Given the description of an element on the screen output the (x, y) to click on. 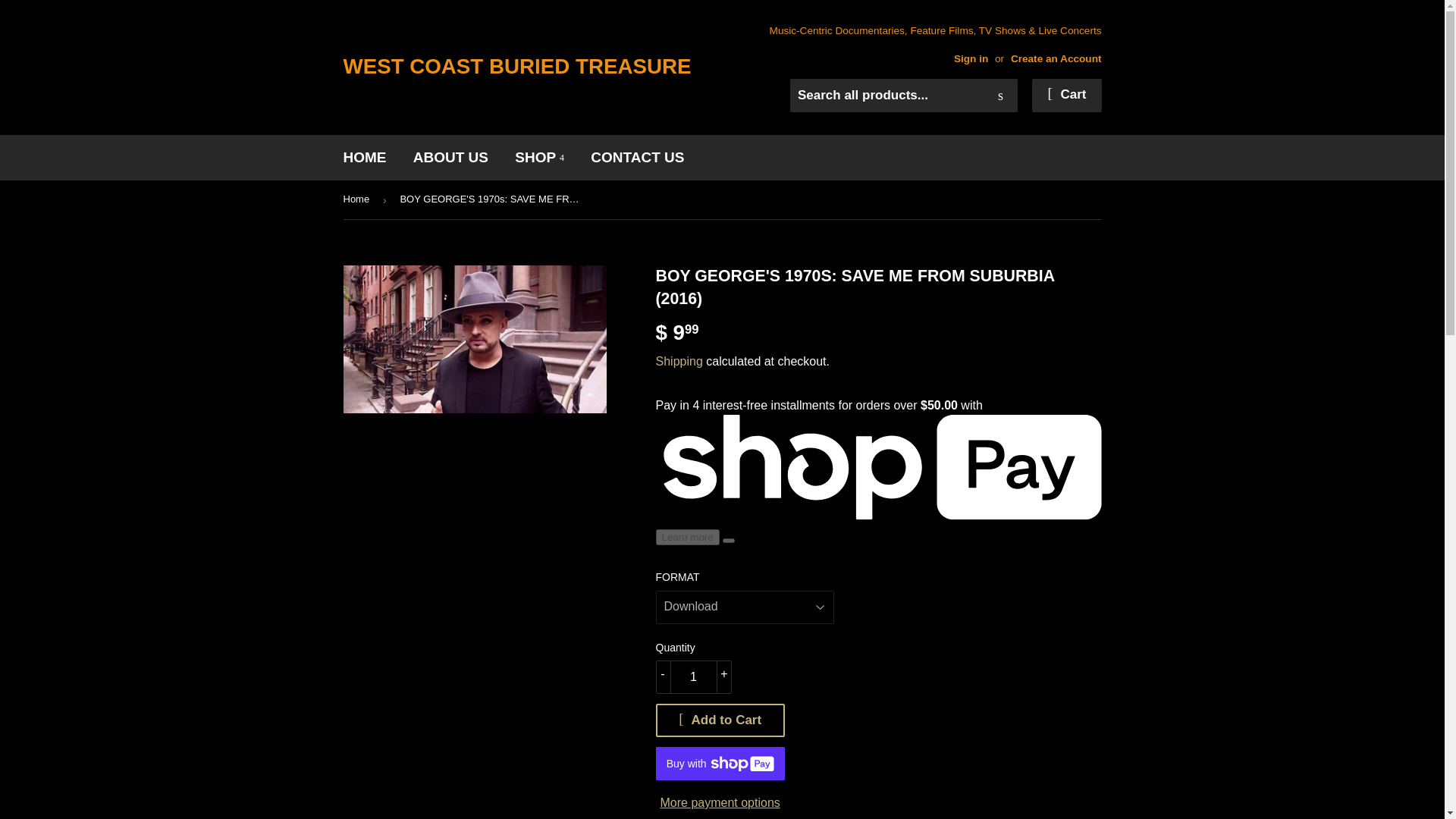
WEST COAST BURIED TREASURE (532, 66)
SHOP (539, 157)
ABOUT US (450, 157)
CONTACT US (637, 157)
Cart (1066, 95)
Create an Account (1056, 58)
1 (692, 676)
Back to the frontpage (358, 199)
Search (1000, 96)
Sign in (970, 58)
Home (358, 199)
HOME (364, 157)
Shipping (678, 360)
More payment options (719, 803)
Add to Cart (719, 720)
